Given the description of an element on the screen output the (x, y) to click on. 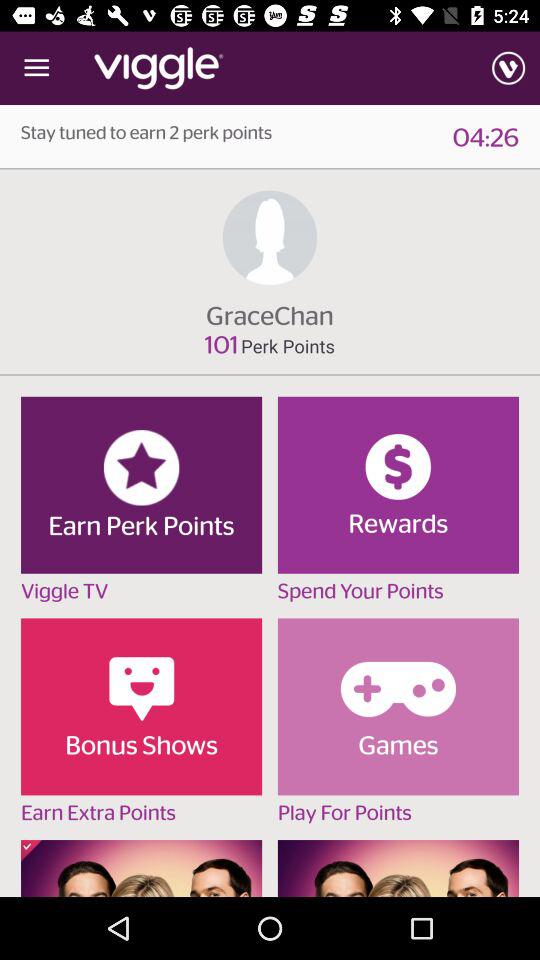
press the item above the stay tuned to icon (36, 68)
